Given the description of an element on the screen output the (x, y) to click on. 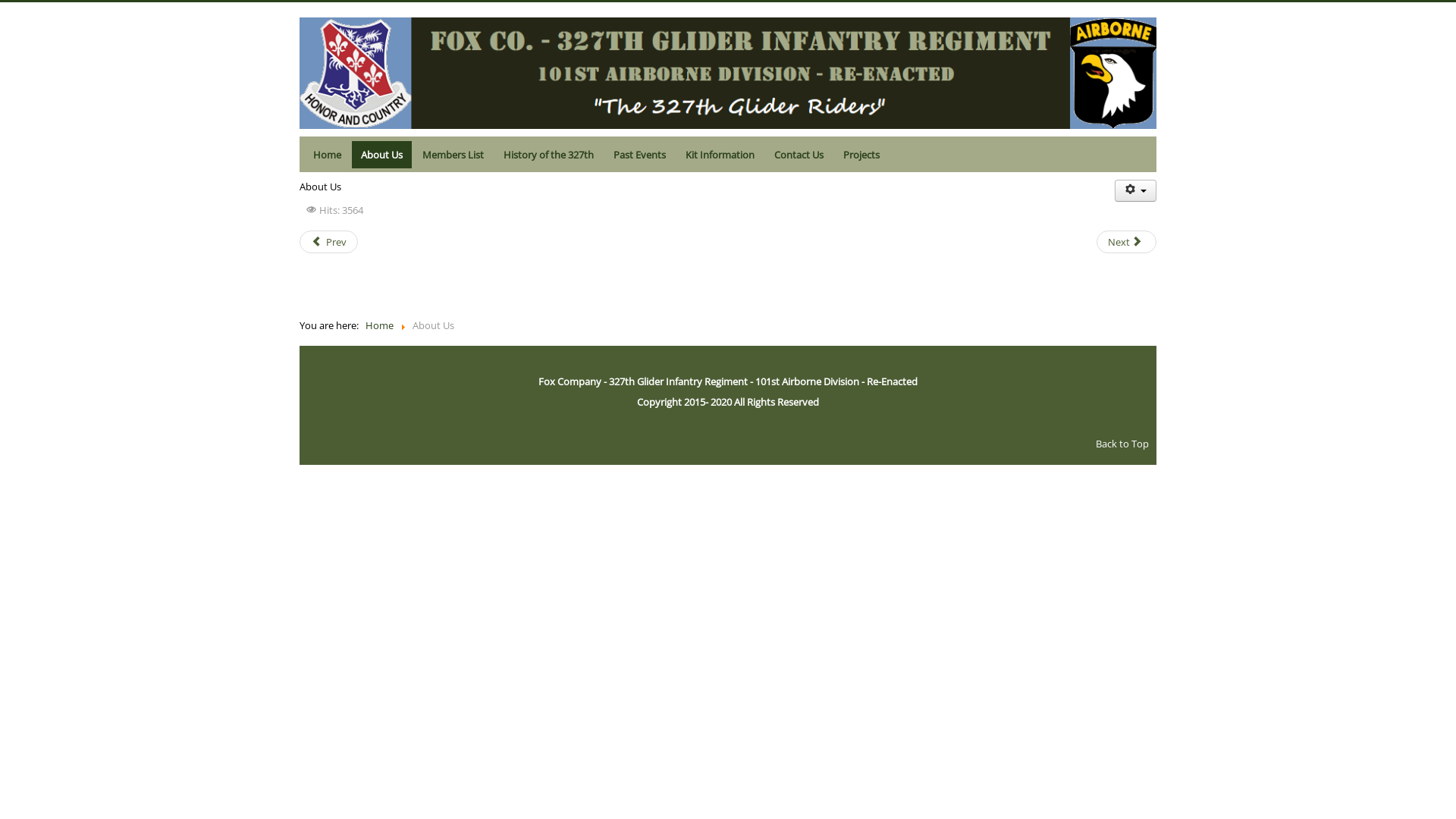
Back to Top Element type: text (1121, 443)
Home Element type: text (379, 325)
Kit Information Element type: text (719, 154)
Prev Element type: text (328, 241)
History of the 327th Element type: text (548, 154)
Past Events Element type: text (639, 154)
Projects Element type: text (861, 154)
Next Element type: text (1126, 241)
About Us Element type: text (381, 154)
Contact Us Element type: text (798, 154)
Home Element type: text (327, 154)
Members List Element type: text (452, 154)
